Given the description of an element on the screen output the (x, y) to click on. 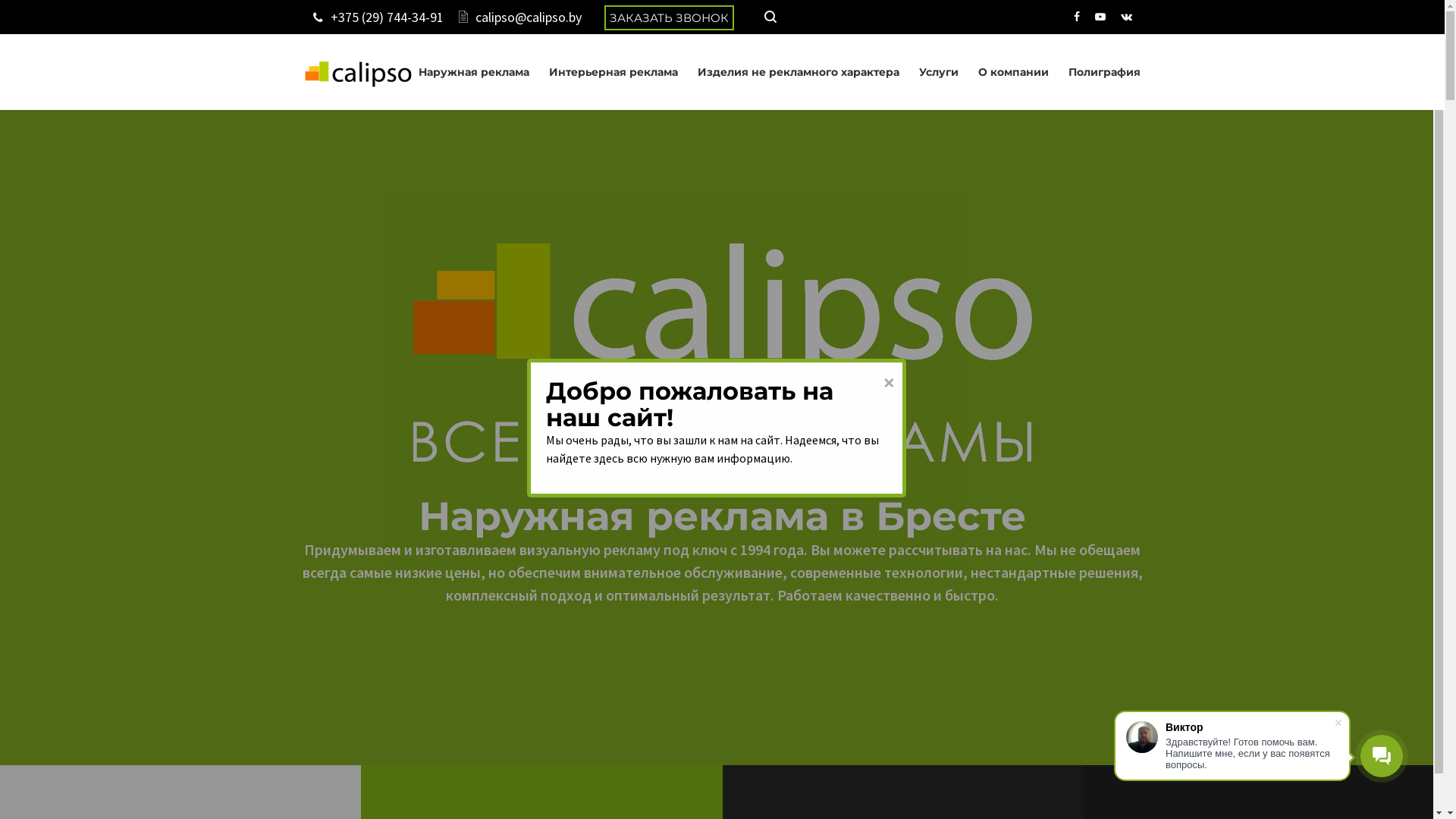
calipso@calipso.by Element type: text (527, 16)
+375 (29) 744-34-91 Element type: text (386, 16)
